Given the description of an element on the screen output the (x, y) to click on. 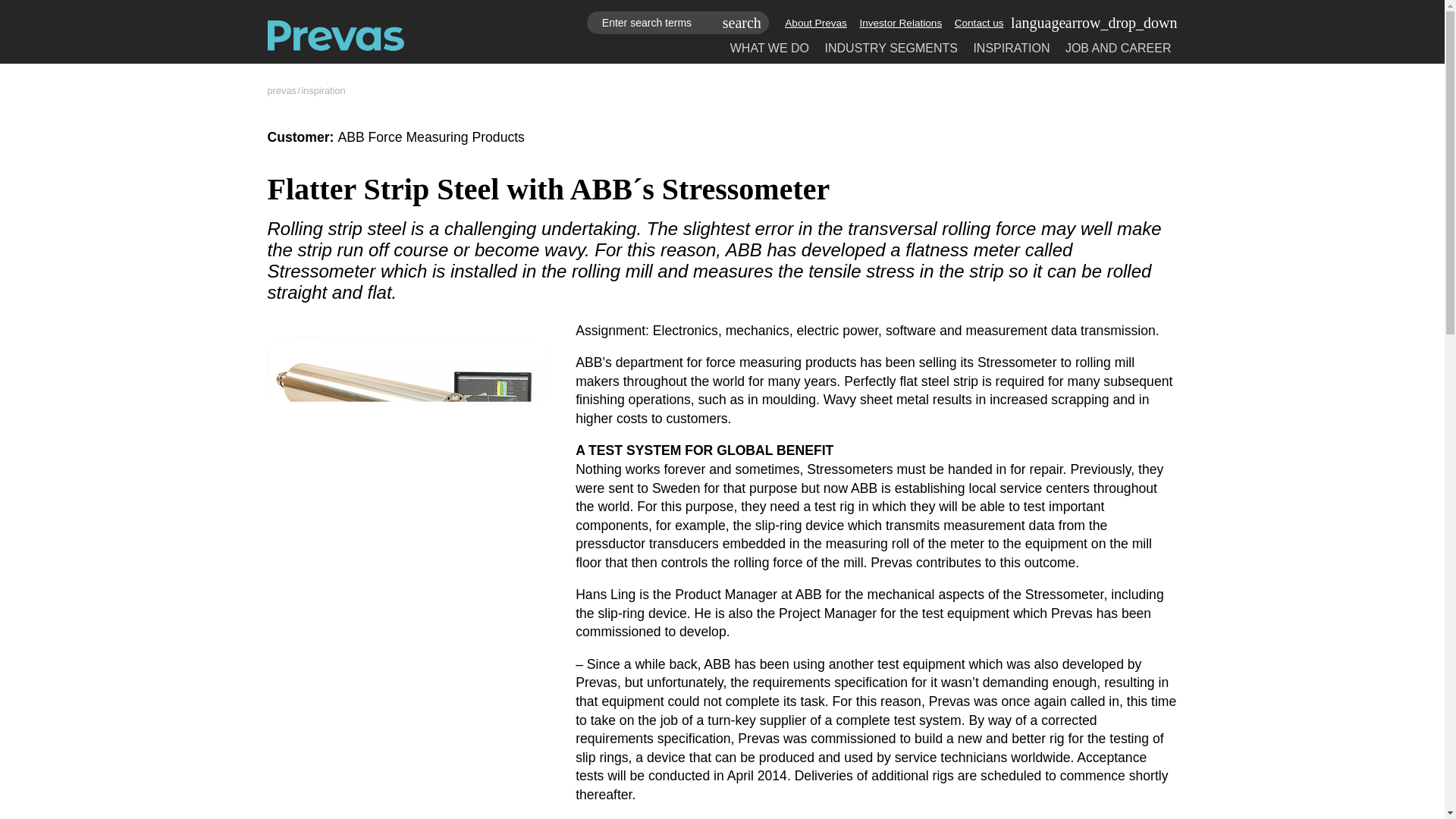
About Prevas (815, 22)
INDUSTRY SEGMENTS (891, 48)
prevas (280, 90)
Investor Relations (900, 22)
JOB AND CAREER (1118, 48)
inspiration (323, 90)
WHAT WE DO (769, 48)
Search (741, 22)
Contact us (979, 22)
INSPIRATION (1010, 48)
